Given the description of an element on the screen output the (x, y) to click on. 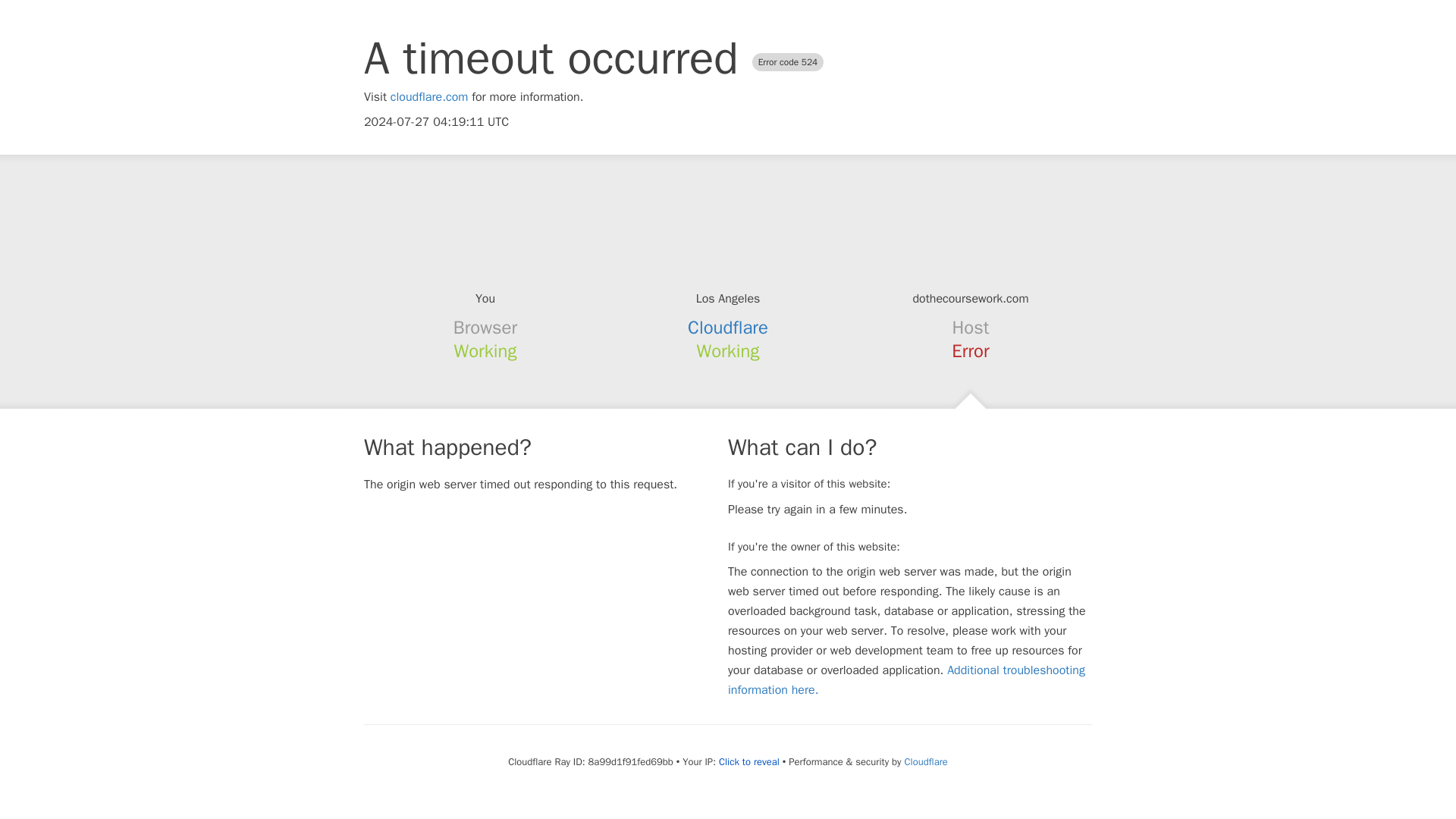
Additional troubleshooting information here. (906, 679)
Cloudflare (727, 327)
cloudflare.com (429, 96)
Click to reveal (748, 762)
Cloudflare (925, 761)
